Given the description of an element on the screen output the (x, y) to click on. 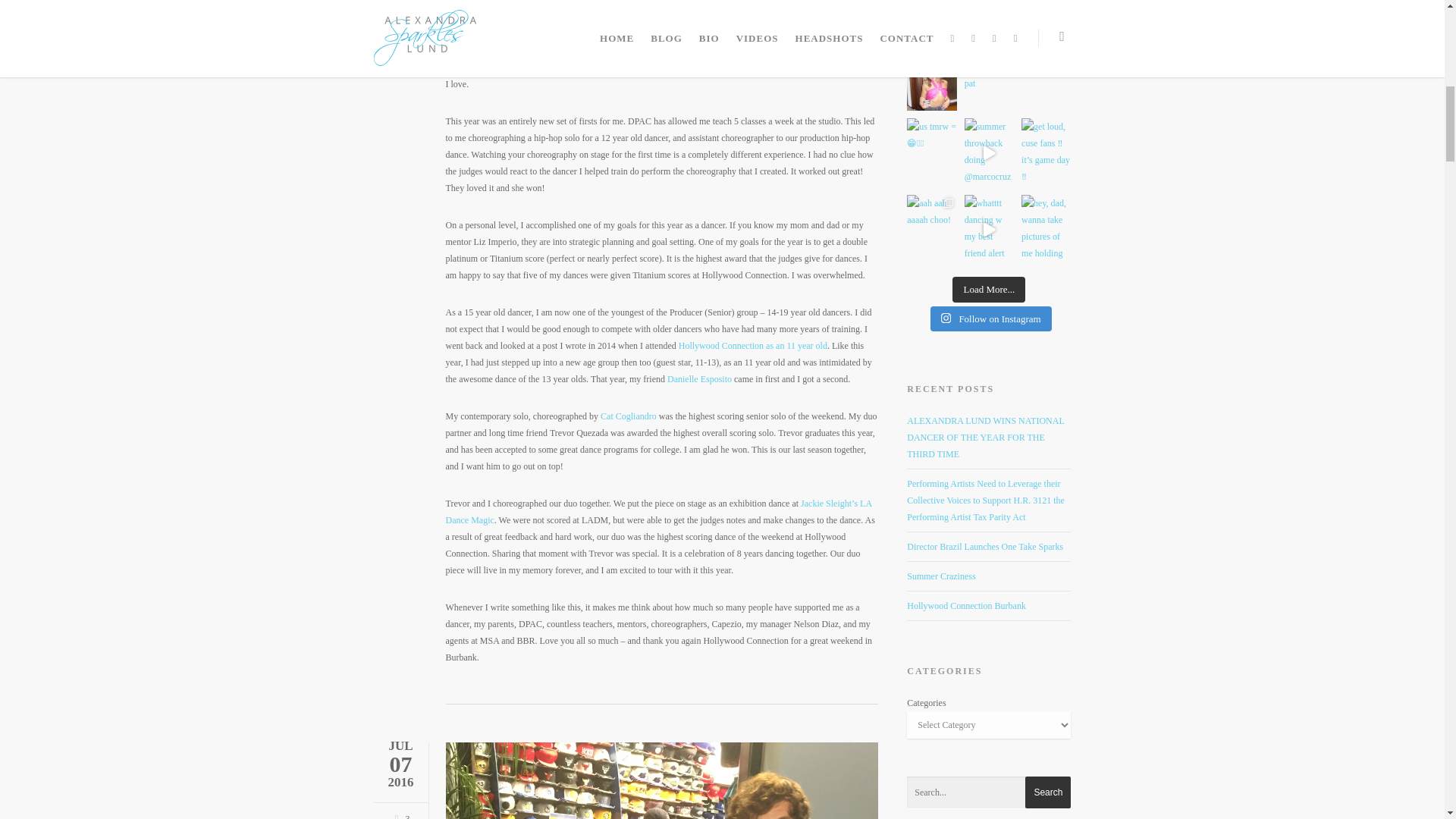
Love this (399, 815)
Hollywood Connection as an 11 year old (752, 345)
3 (399, 815)
Danielle Esposito (699, 378)
Cat Cogliandro (627, 416)
Search (1047, 792)
Search (1047, 792)
